Given the description of an element on the screen output the (x, y) to click on. 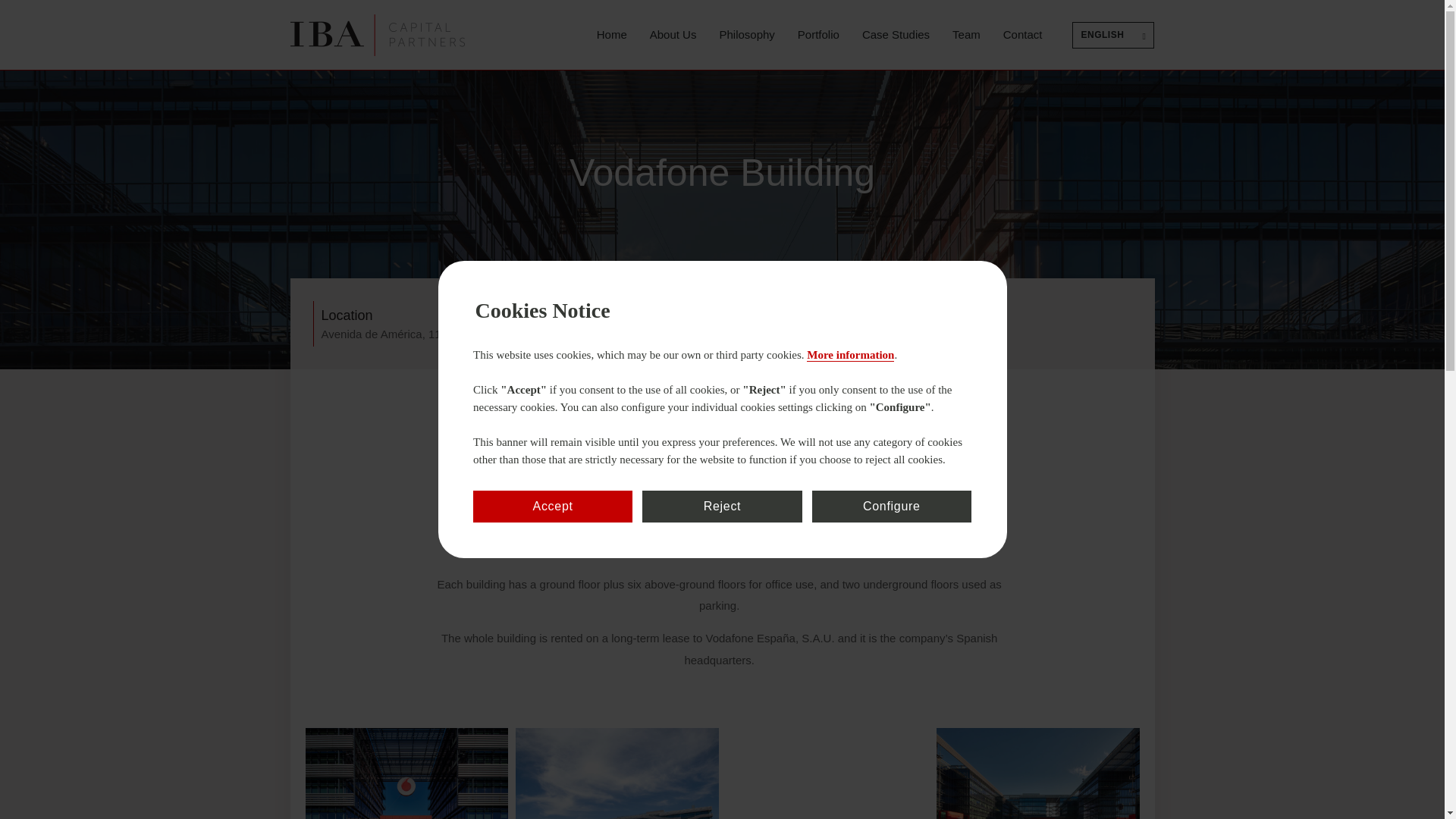
Accept (552, 506)
ENGLISH (1112, 34)
Case Studies (895, 34)
Reject (722, 506)
Configure (891, 506)
More information (849, 354)
